Given the description of an element on the screen output the (x, y) to click on. 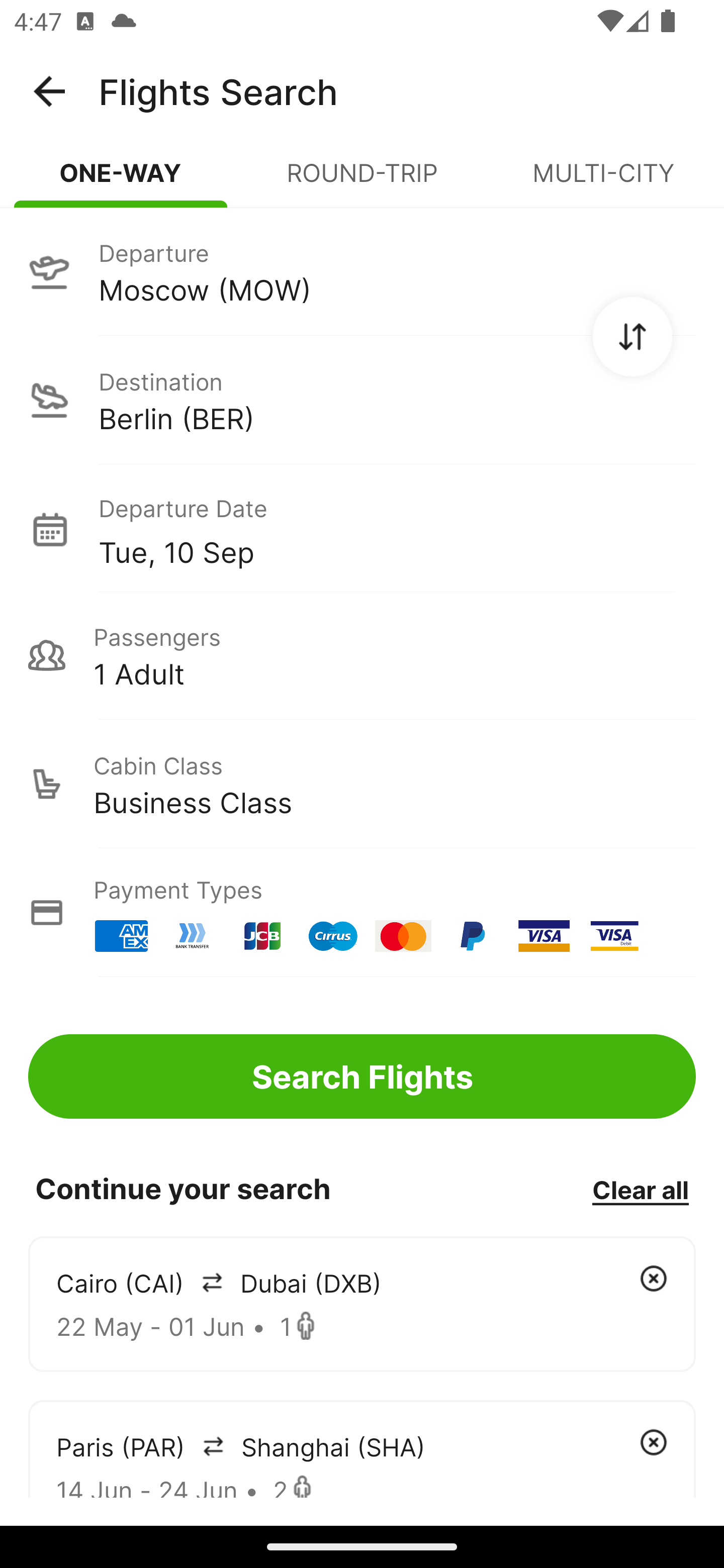
ONE-WAY (120, 180)
ROUND-TRIP (361, 180)
MULTI-CITY (603, 180)
Departure Moscow (MOW) (362, 270)
Destination Berlin (BER) (362, 400)
Departure Date Tue, 10 Sep (396, 528)
Passengers 1 Adult (362, 655)
Cabin Class Business Class (362, 783)
Payment Types (362, 912)
Search Flights (361, 1075)
Clear all (640, 1189)
